Given the description of an element on the screen output the (x, y) to click on. 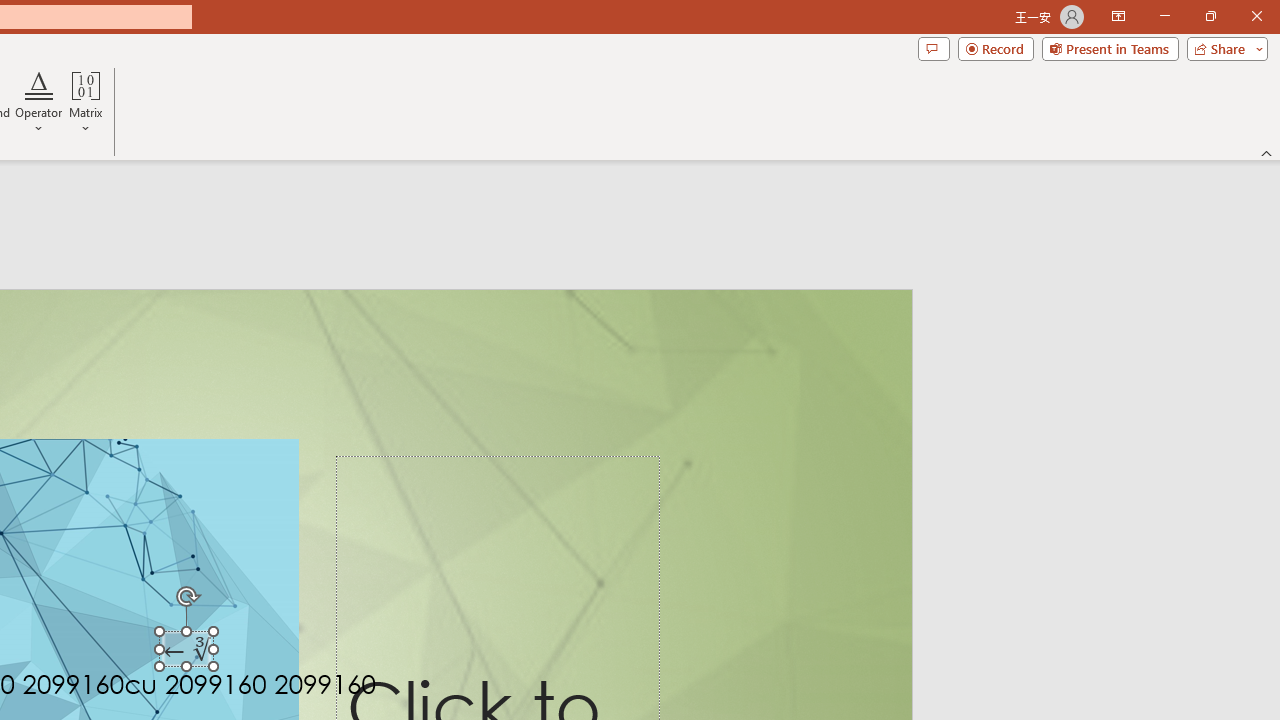
Operator (38, 102)
Matrix (86, 102)
